Given the description of an element on the screen output the (x, y) to click on. 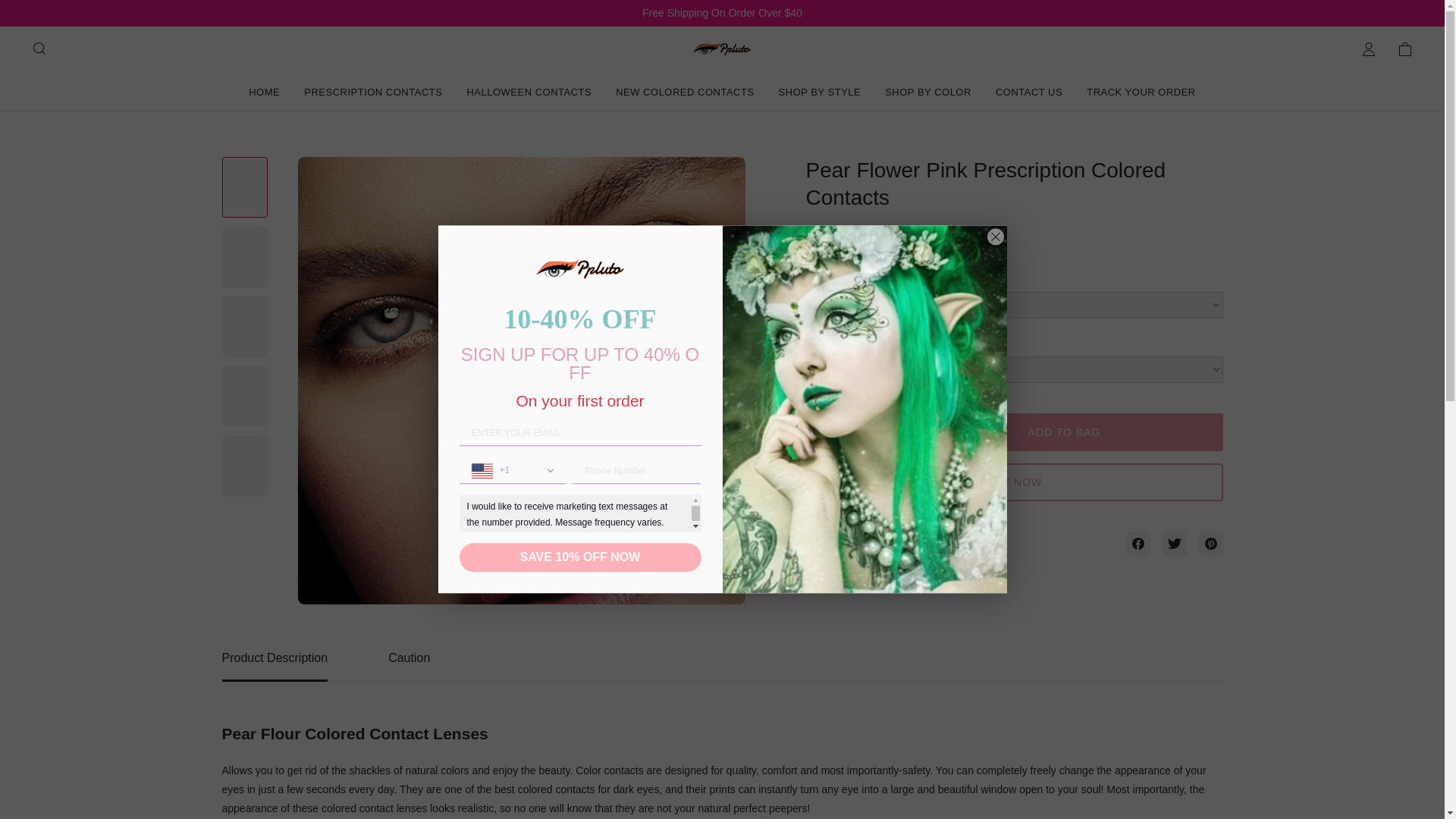
SHOP BY COLOR (722, 665)
TRACK YOUR ORDER (928, 91)
SHOP BY STYLE (1140, 91)
HOME (819, 91)
PRESCRIPTION CONTACTS (263, 91)
1 (373, 91)
NEW COLORED CONTACTS (850, 431)
CONTACT US (684, 91)
HALLOWEEN CONTACTS (1028, 91)
